Given the description of an element on the screen output the (x, y) to click on. 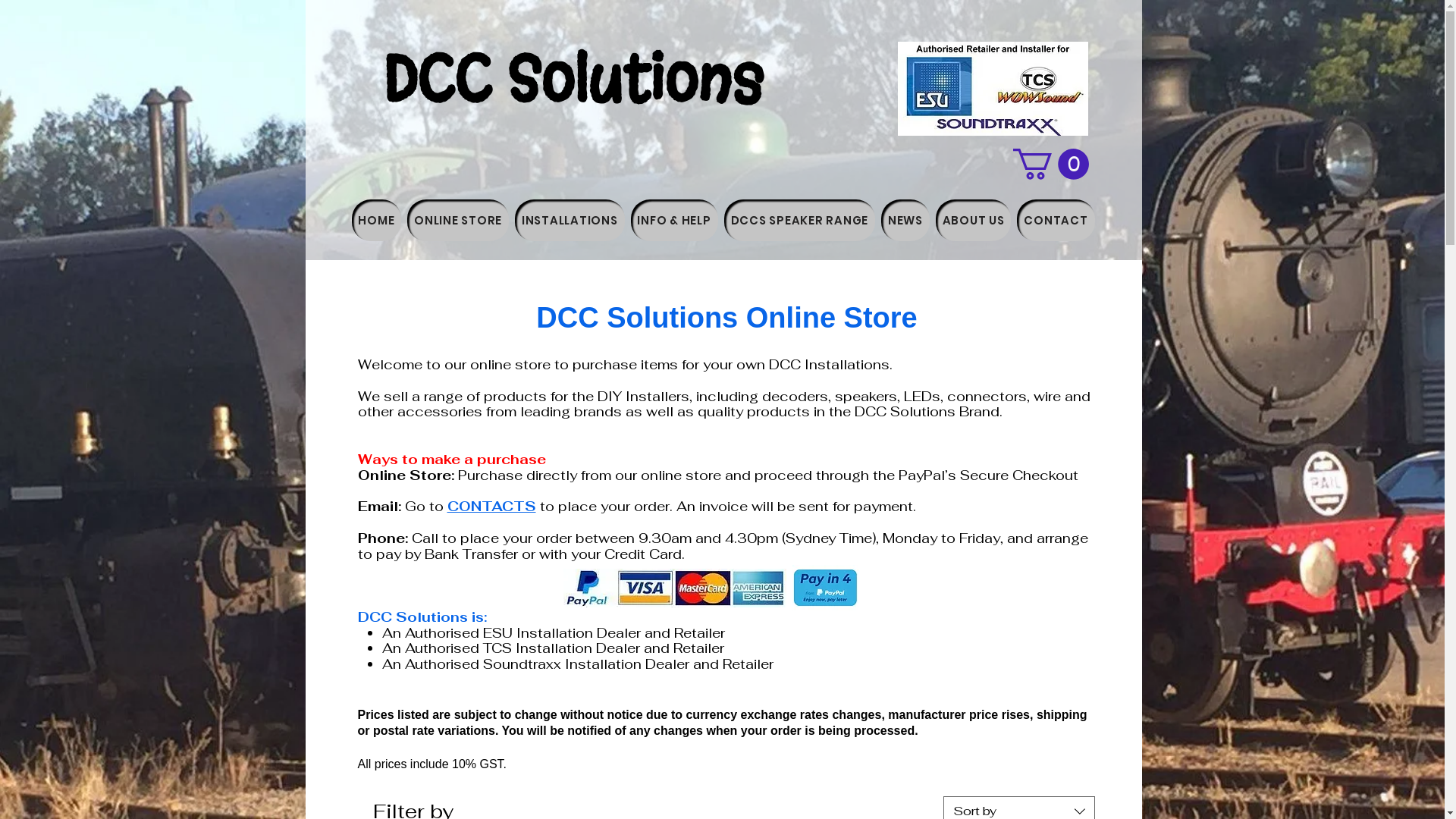
0 Element type: text (1050, 163)
CONTACTS Element type: text (491, 505)
ABOUT US Element type: text (973, 220)
NEWS Element type: text (905, 220)
HOME Element type: text (376, 220)
INSTALLATIONS Element type: text (569, 220)
INFO & HELP Element type: text (674, 220)
CONTACT Element type: text (1055, 220)
ONLINE STORE Element type: text (457, 220)
DCCS SPEAKER RANGE Element type: text (799, 220)
